Given the description of an element on the screen output the (x, y) to click on. 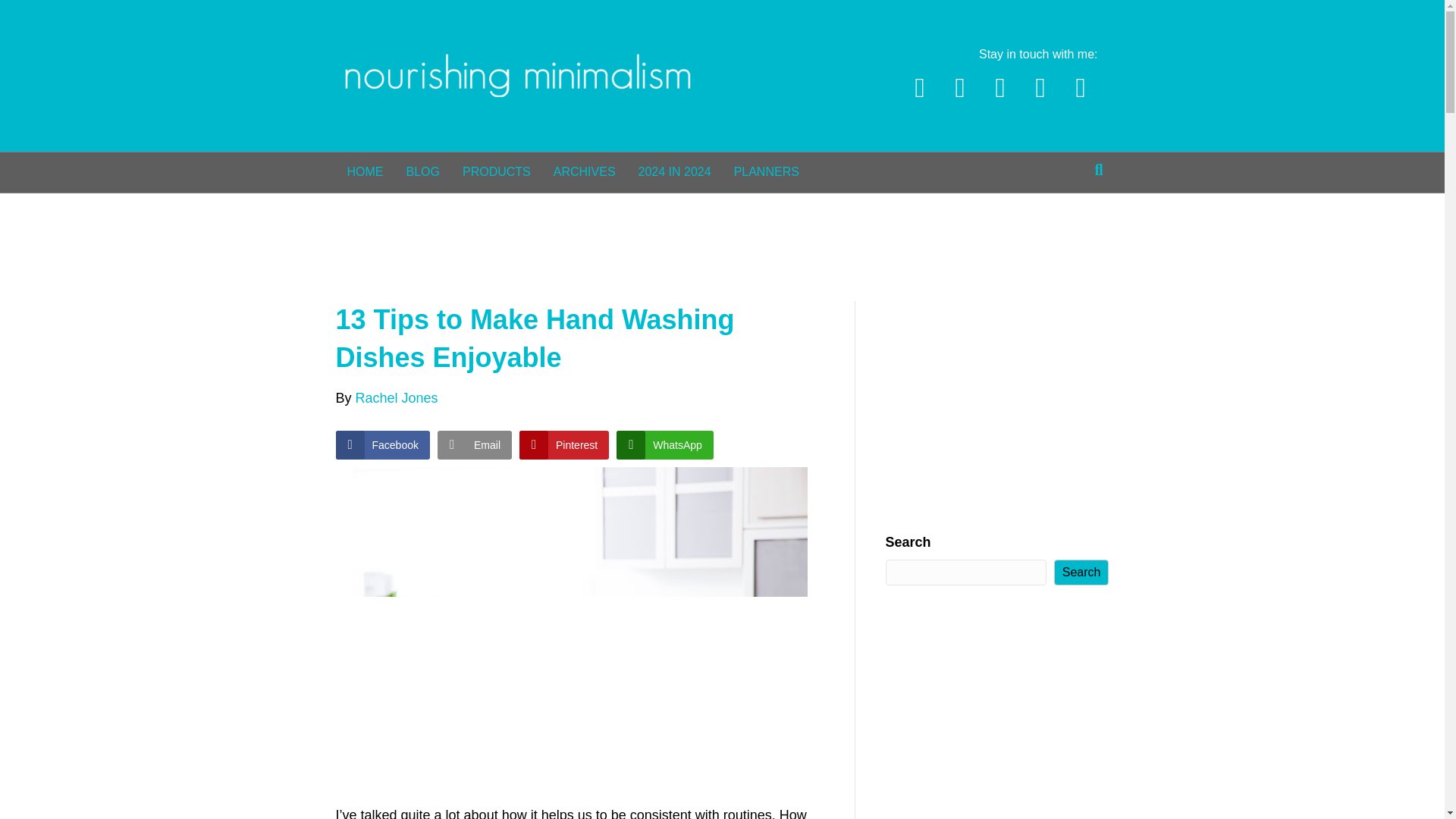
Instagram (1040, 87)
Facebook (381, 444)
ARCHIVES (584, 171)
PRODUCTS (496, 171)
Email (475, 444)
Youtube (999, 87)
Pinterest (959, 87)
Email (1079, 87)
WhatsApp (664, 444)
PLANNERS (766, 171)
Facebook (919, 87)
2024 IN 2024 (674, 171)
Rachel Jones (396, 397)
HOME (364, 171)
BLOG (421, 171)
